Given the description of an element on the screen output the (x, y) to click on. 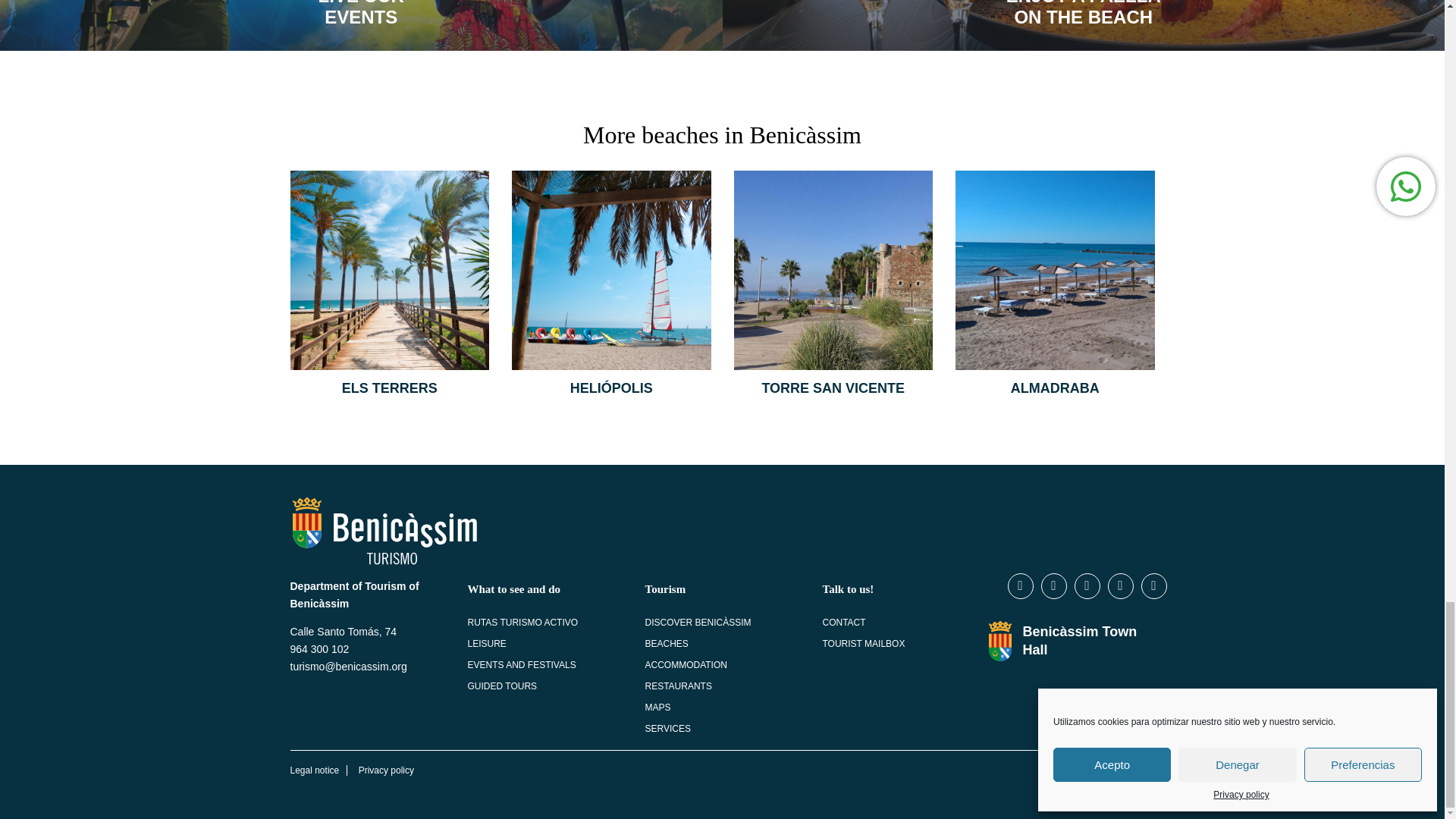
almadraba4 (1054, 270)
Facebook (1020, 586)
Twitter (1053, 586)
Instagram (1087, 586)
Els Terrers (389, 270)
Youtube (1120, 586)
TorreSantVicentnueva (833, 270)
Pinterest (1153, 586)
